Given the description of an element on the screen output the (x, y) to click on. 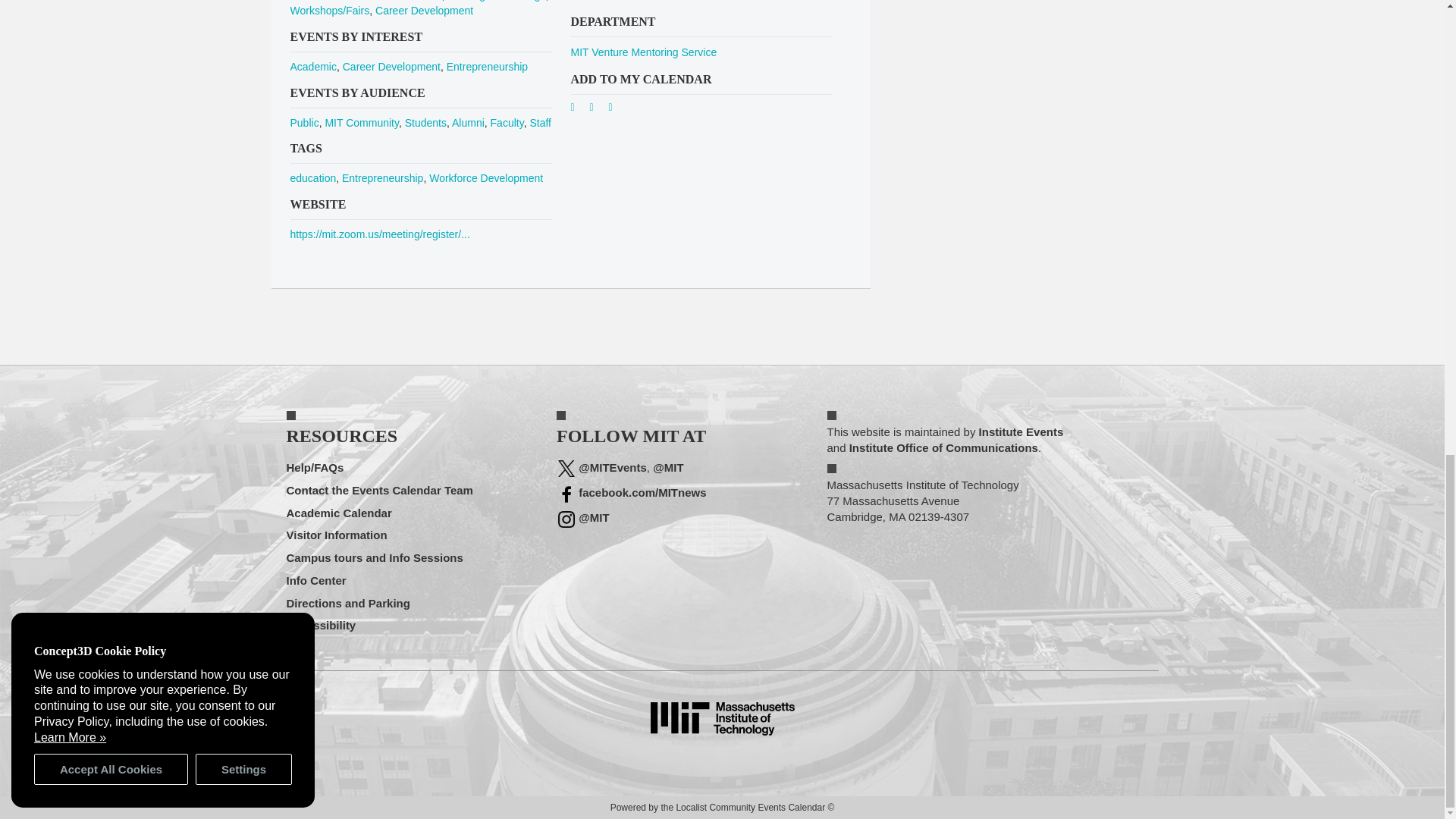
Workforce Development (486, 177)
Save to Outlook (615, 109)
Faculty (507, 122)
Staff (540, 122)
education (312, 177)
Students (425, 122)
Entrepreneurship (486, 66)
Career Development (424, 10)
Entrepreneurship (382, 177)
Save to Google Calendar (577, 109)
Save to iCal (597, 109)
MIT Venture Mentoring Service (643, 51)
MIT Community (361, 122)
Academic (312, 66)
Public (303, 122)
